Given the description of an element on the screen output the (x, y) to click on. 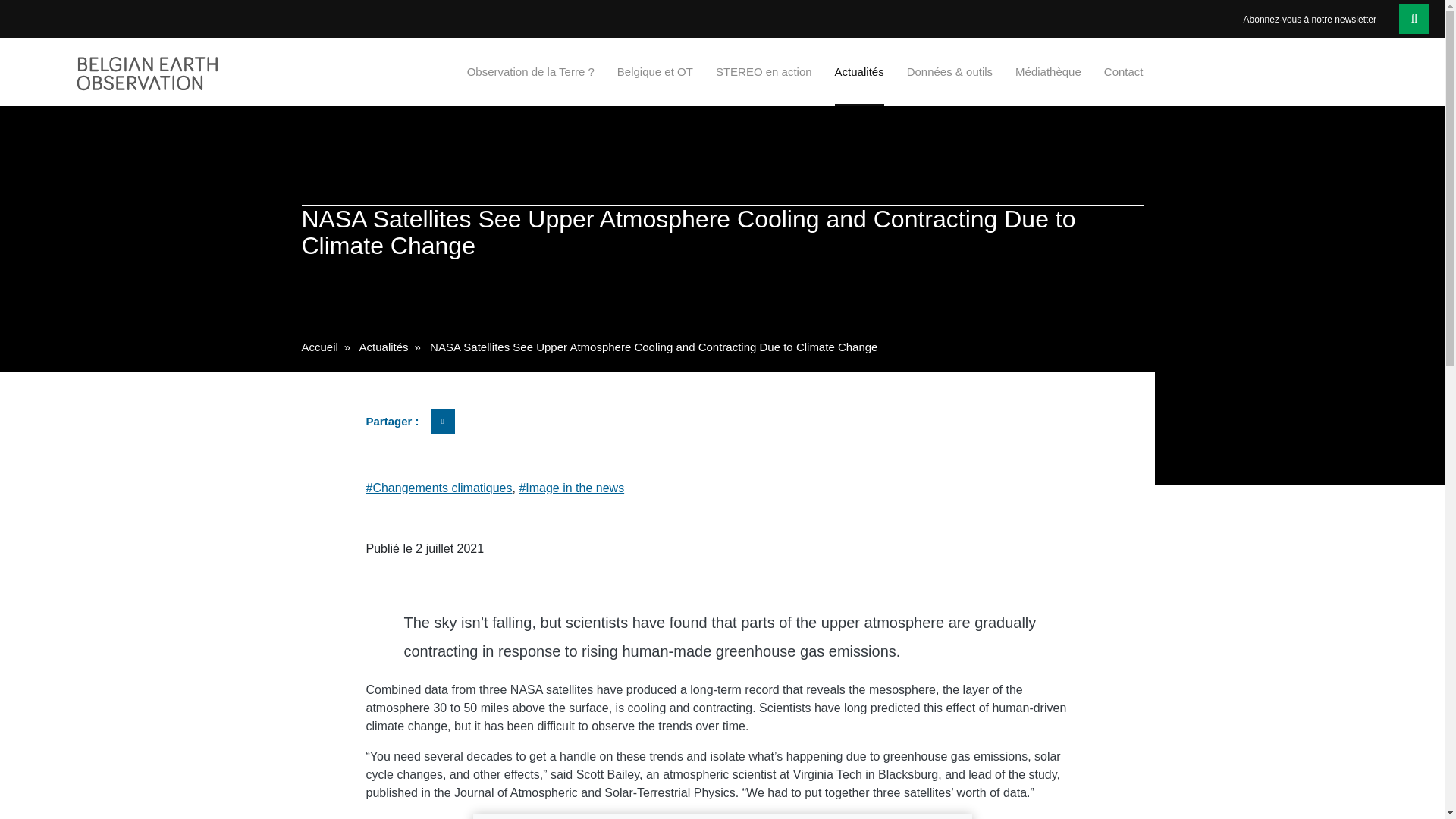
Accueil (319, 346)
STEREO en action (764, 71)
Belgique et OT (655, 71)
Observation de la Terre ? (530, 71)
